Given the description of an element on the screen output the (x, y) to click on. 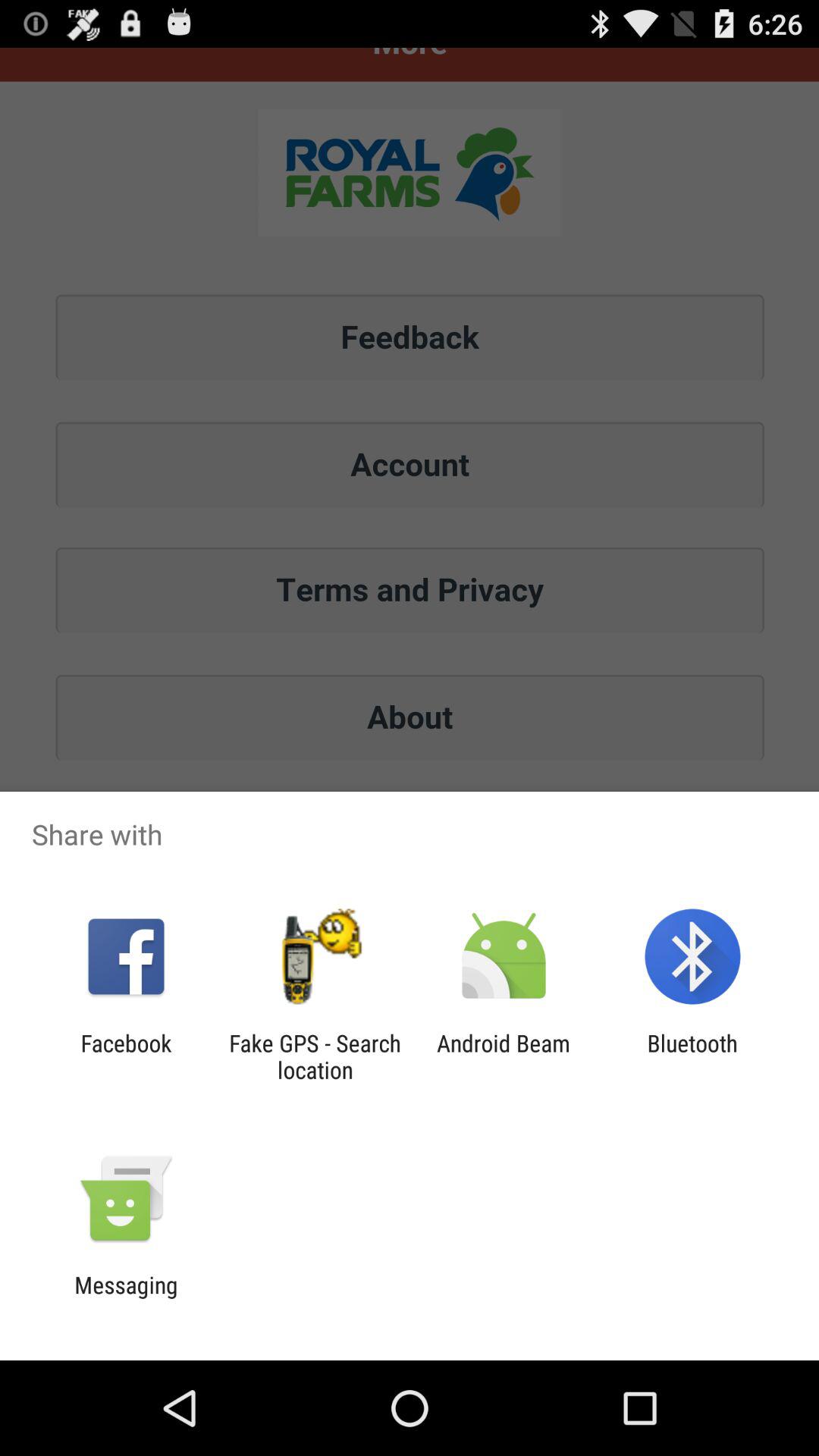
click app next to fake gps search icon (125, 1056)
